Given the description of an element on the screen output the (x, y) to click on. 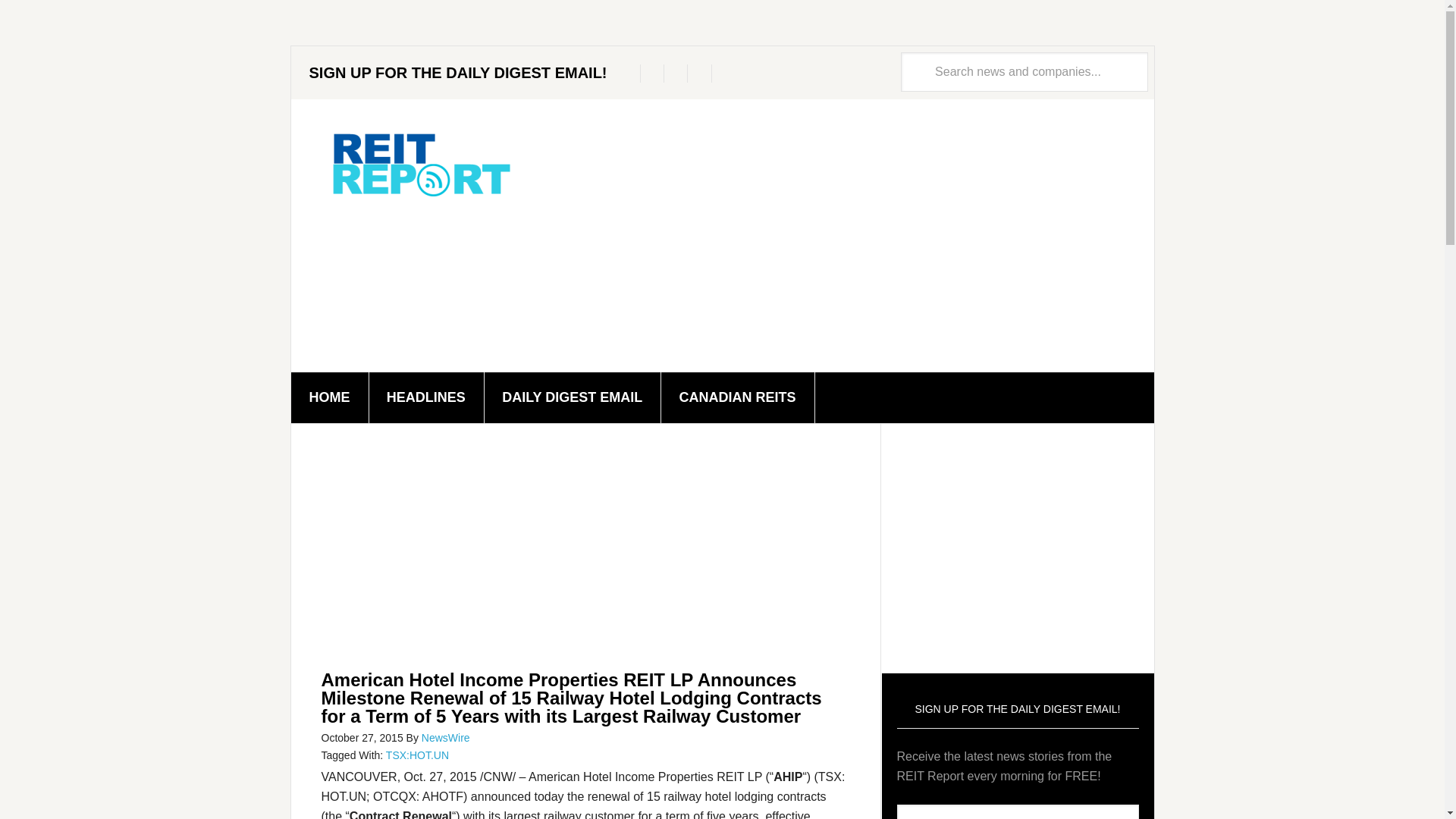
HEADLINES (426, 397)
Advertisement (1023, 544)
NewsWire (446, 737)
Advertisement (585, 549)
SIGN UP FOR THE DAILY DIGEST EMAIL! (458, 72)
TWITTER (631, 73)
GOOGLE PLUS ONE (678, 73)
REIT REPORT (419, 163)
RSS (702, 73)
FACEBOOK (654, 73)
DAILY DIGEST EMAIL (572, 397)
CANADIAN REITS (738, 397)
